Given the description of an element on the screen output the (x, y) to click on. 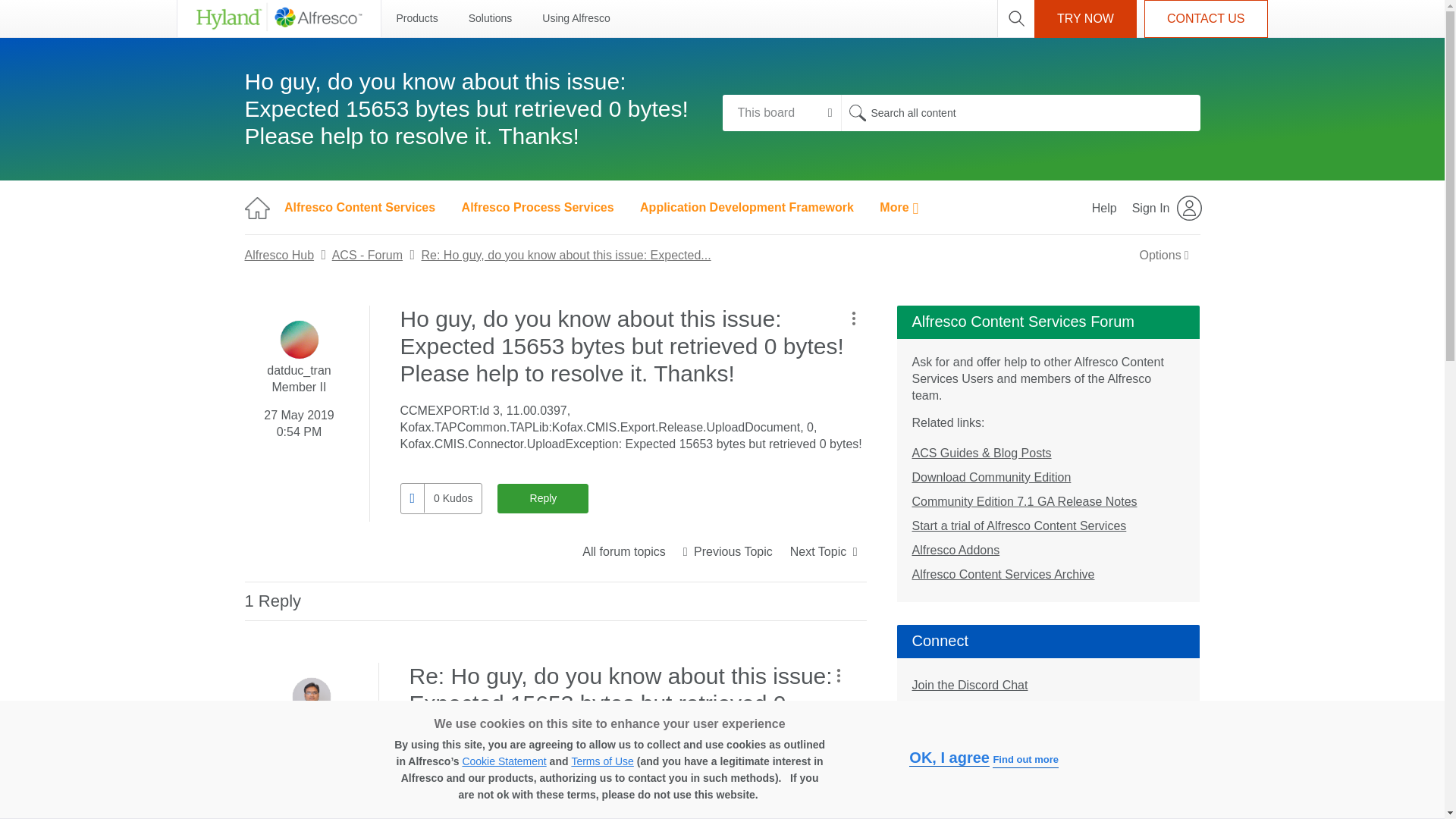
Alfresco (278, 18)
Alfresco Content Services - Forum (623, 551)
Search (856, 112)
Solutions (489, 18)
More (898, 207)
CONTACT US (1206, 18)
Sign In (1167, 207)
Using Alfresco (575, 18)
Community (256, 207)
Show option menu (1163, 254)
Search (856, 112)
Help (1104, 207)
The total number of kudos this post has received. (452, 498)
Posted on (298, 419)
Click here to give kudos to this post. (411, 498)
